Given the description of an element on the screen output the (x, y) to click on. 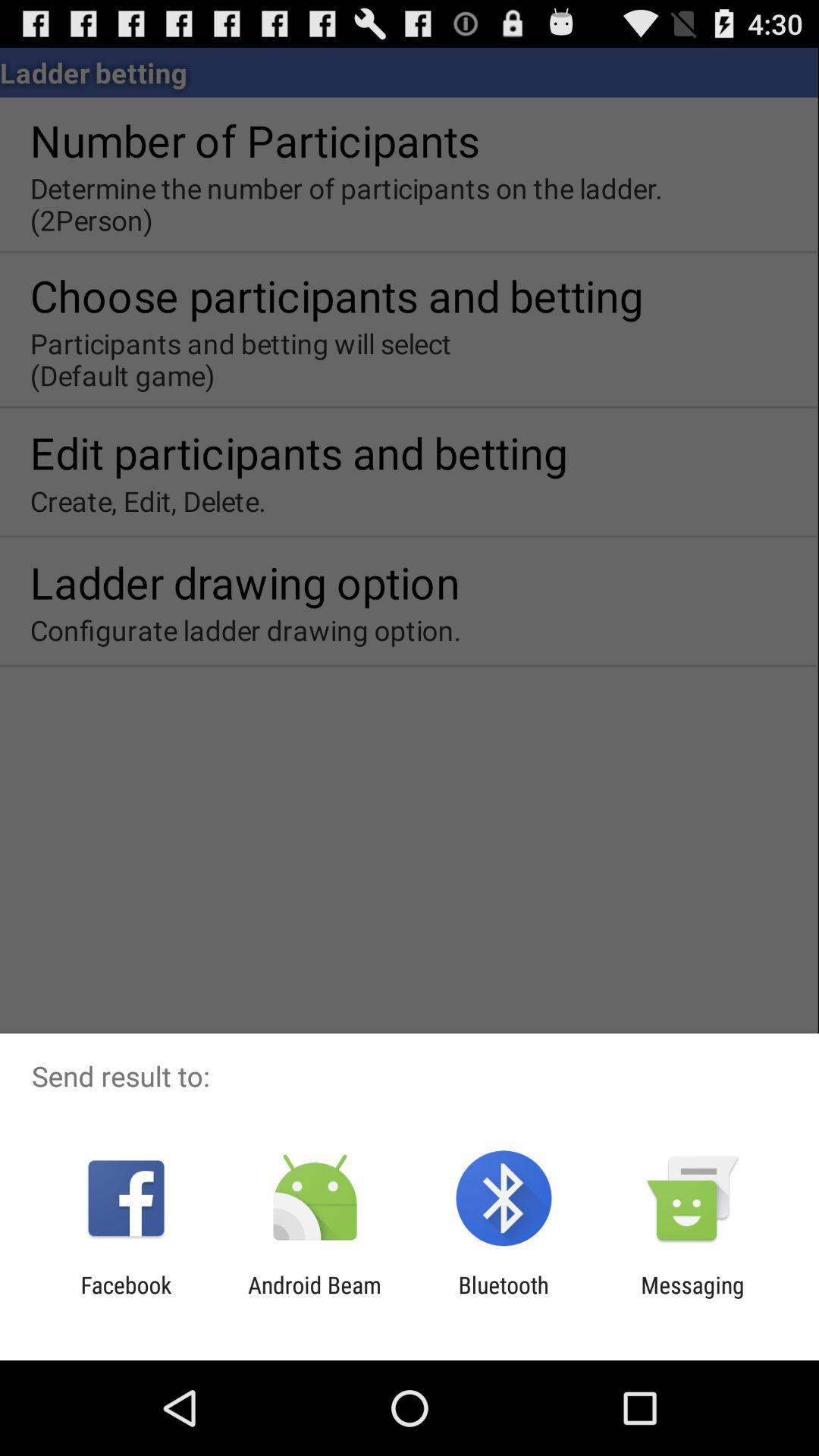
launch messaging icon (692, 1298)
